Given the description of an element on the screen output the (x, y) to click on. 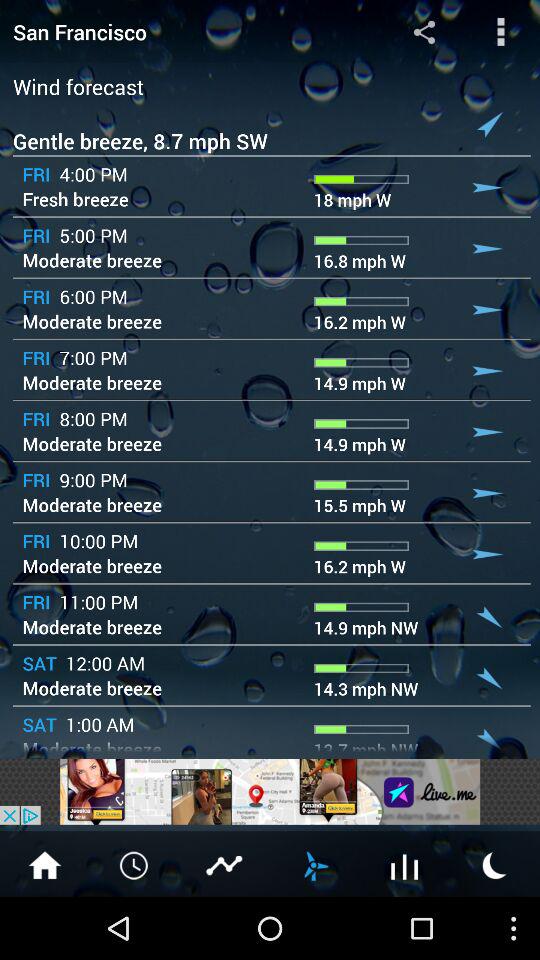
view the advertisements (270, 791)
